Given the description of an element on the screen output the (x, y) to click on. 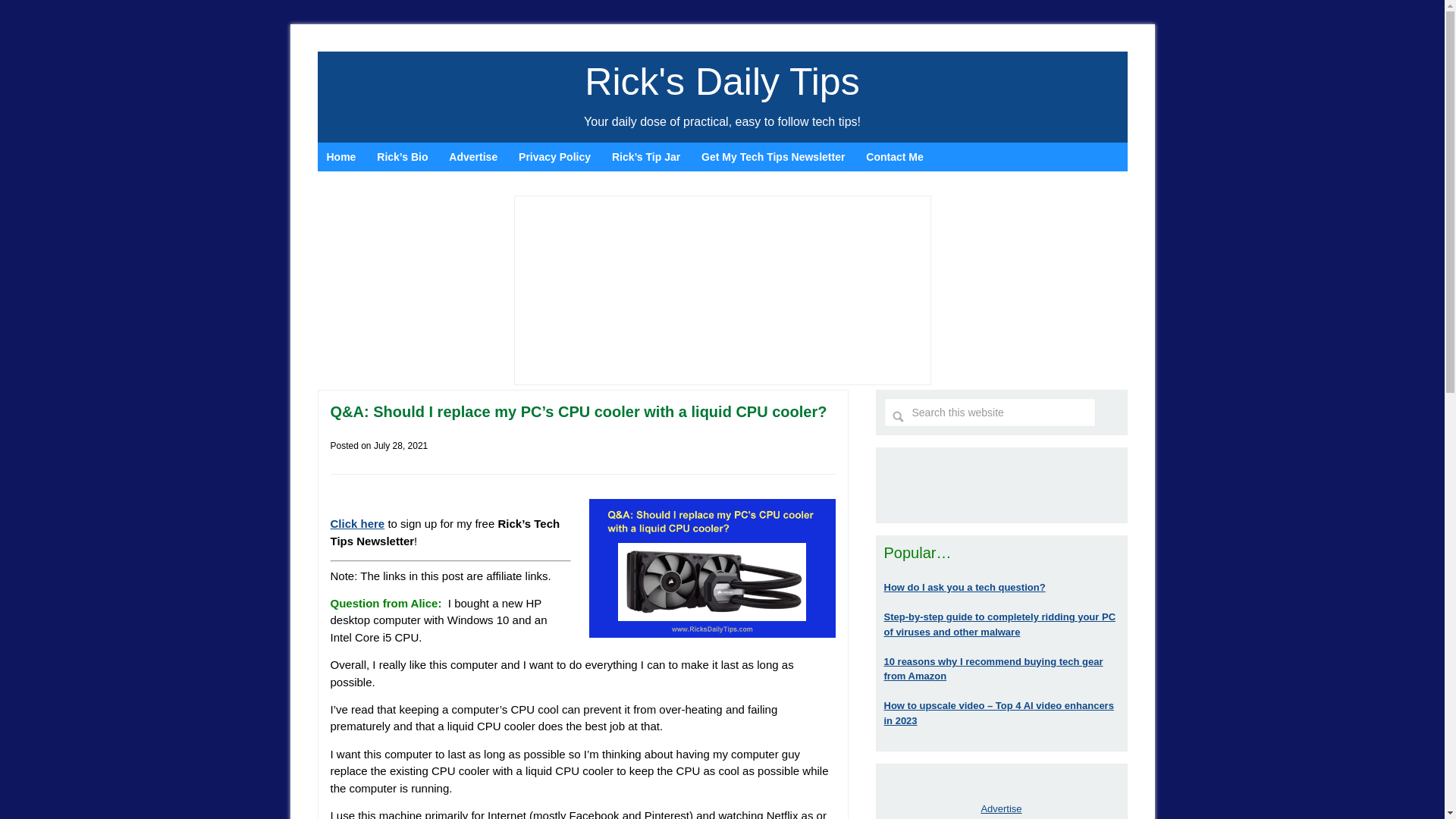
Rick's Daily Tips (722, 81)
Home (341, 156)
How do I ask you a tech question? (964, 586)
Advertise (472, 156)
10 reasons why I recommend buying tech gear from Amazon (993, 669)
Click here (357, 522)
Get My Tech Tips Newsletter (773, 156)
